Given the description of an element on the screen output the (x, y) to click on. 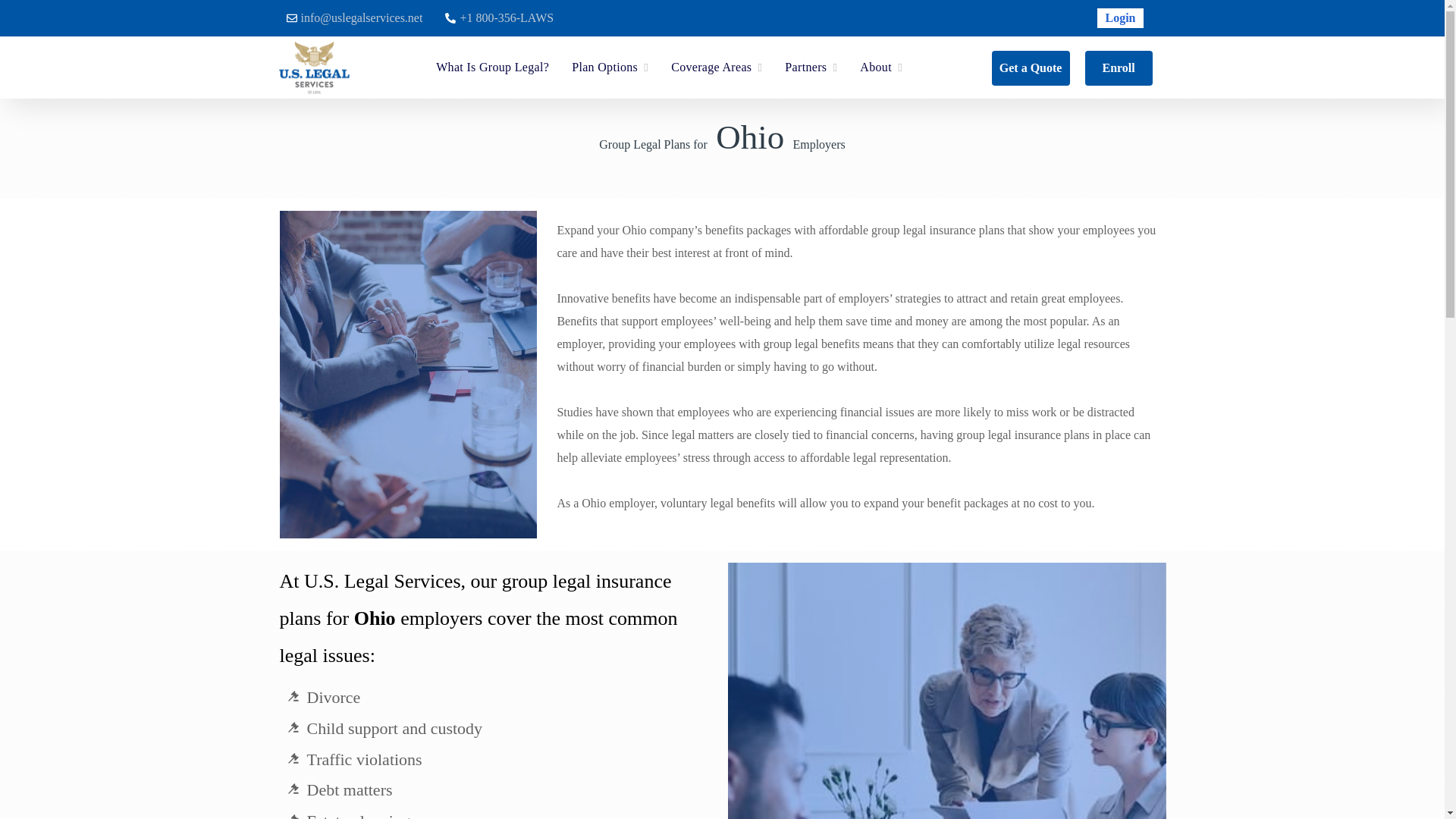
Coverage Areas (716, 66)
Partners (810, 66)
What Is Group Legal? (492, 66)
About (881, 66)
Plan Options (609, 66)
Login (1120, 18)
